Given the description of an element on the screen output the (x, y) to click on. 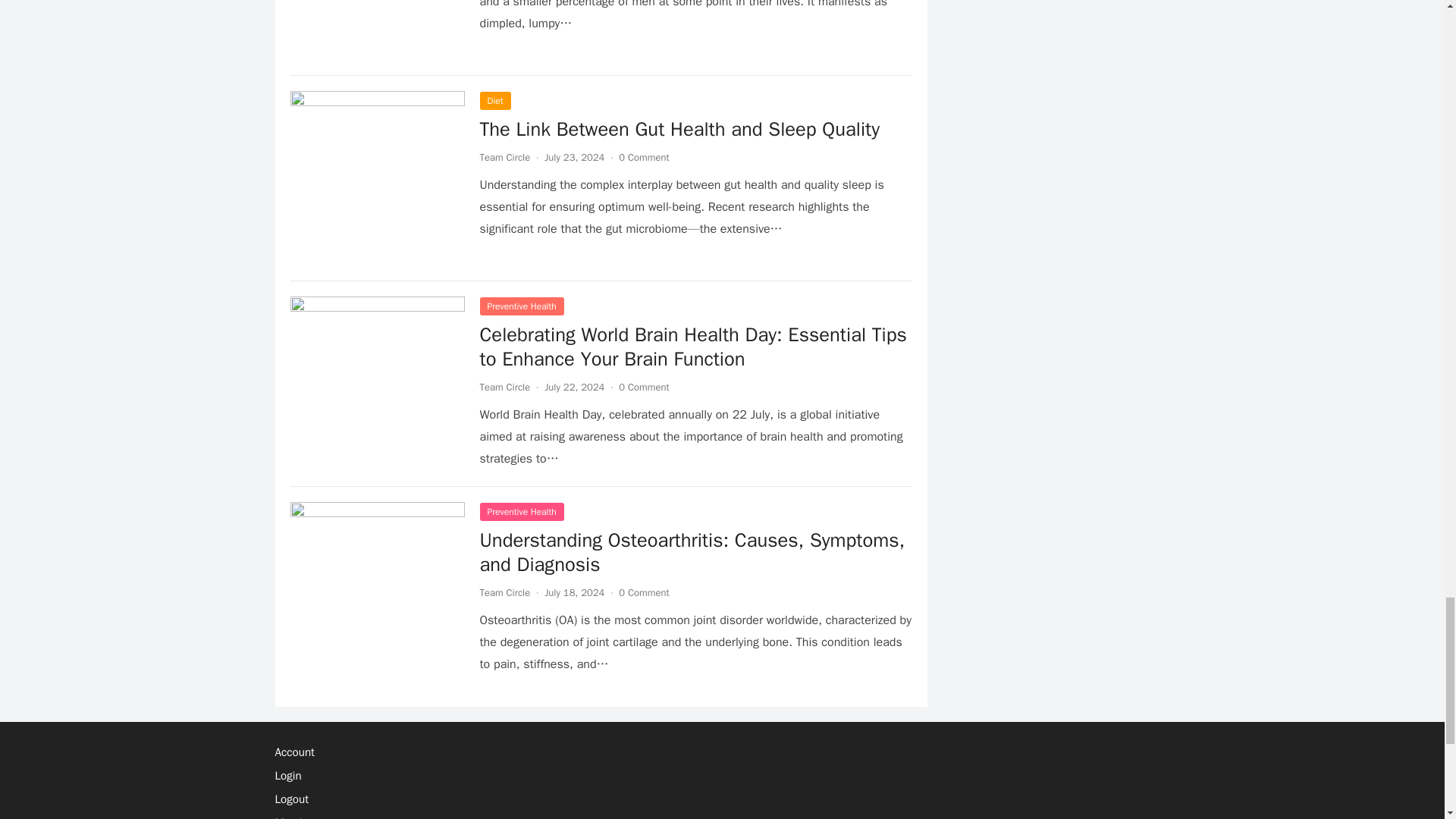
Posts by Team Circle (504, 592)
Posts by Team Circle (504, 156)
Posts by Team Circle (504, 386)
